Given the description of an element on the screen output the (x, y) to click on. 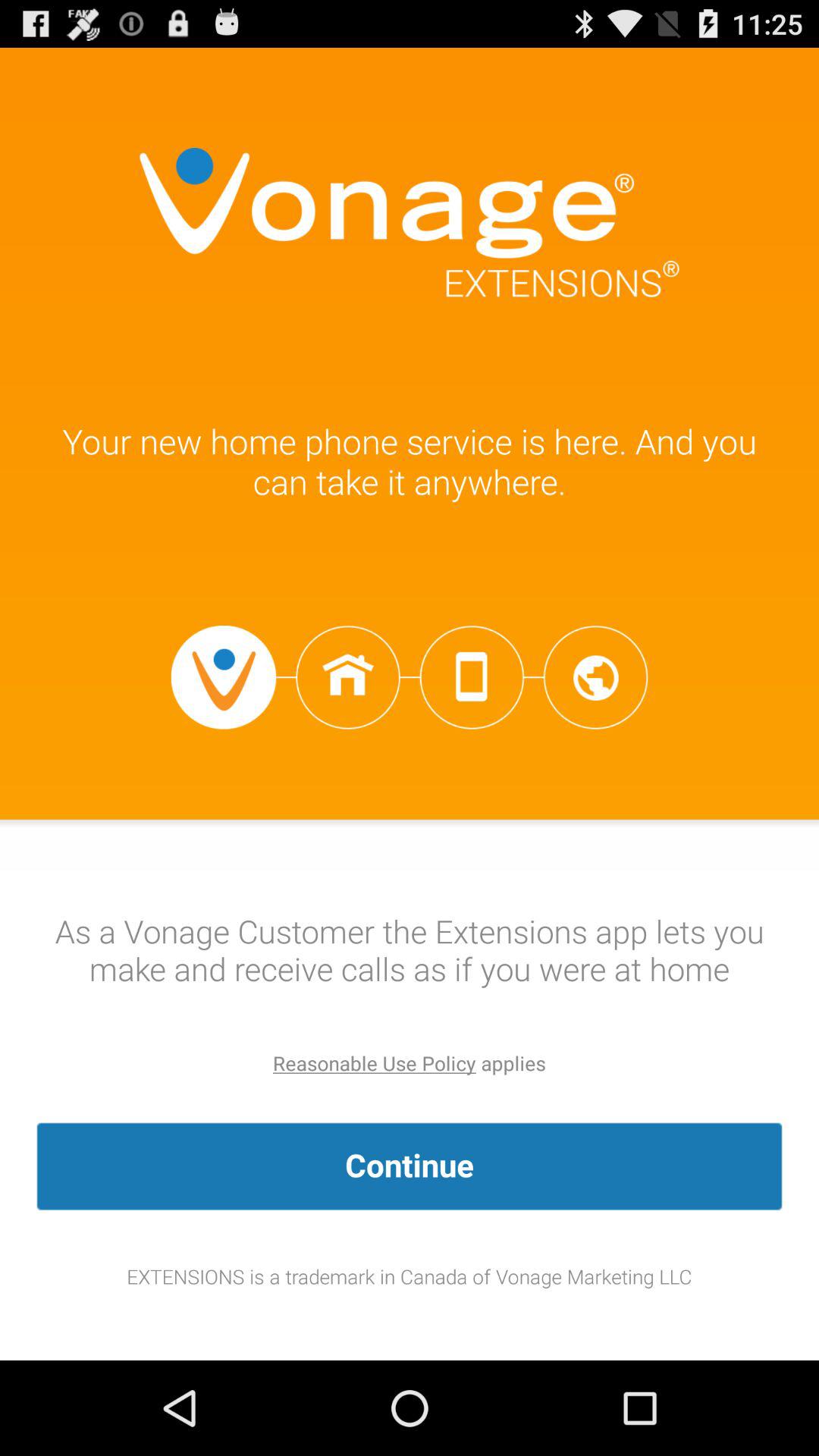
press reasonable use policy app (374, 1062)
